Given the description of an element on the screen output the (x, y) to click on. 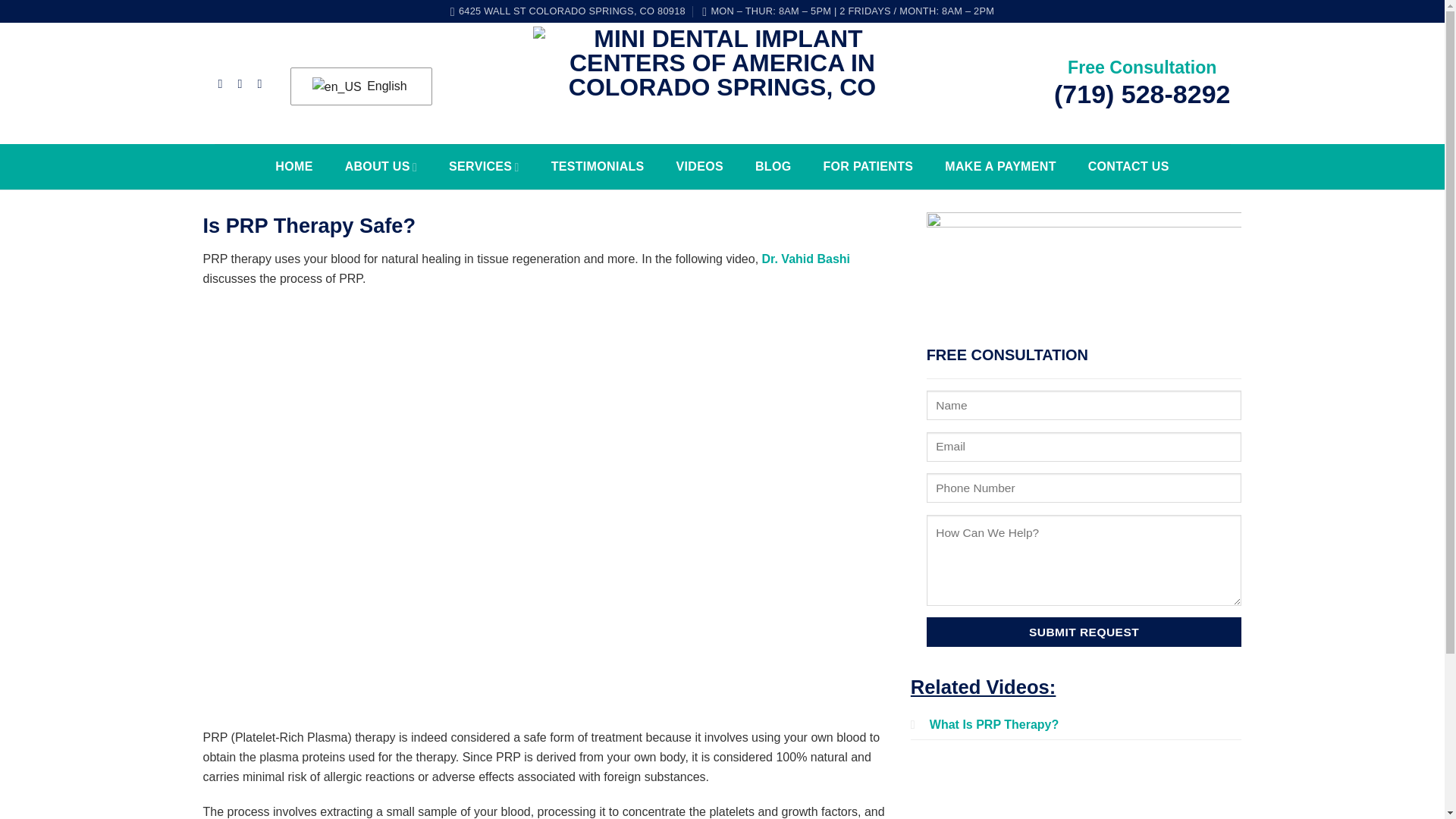
SERVICES (483, 166)
FREE CONSULTATION (1083, 501)
6425 Wall St Colorado Springs, CO 80918 (567, 11)
Submit Request (1083, 632)
HOME (293, 166)
English (358, 86)
6425 WALL ST COLORADO SPRINGS, CO 80918 (567, 11)
TESTIMONIALS (597, 166)
English (358, 86)
ABOUT US (381, 166)
Follow on YouTube (263, 83)
VIDEOS (699, 166)
English (337, 86)
